Given the description of an element on the screen output the (x, y) to click on. 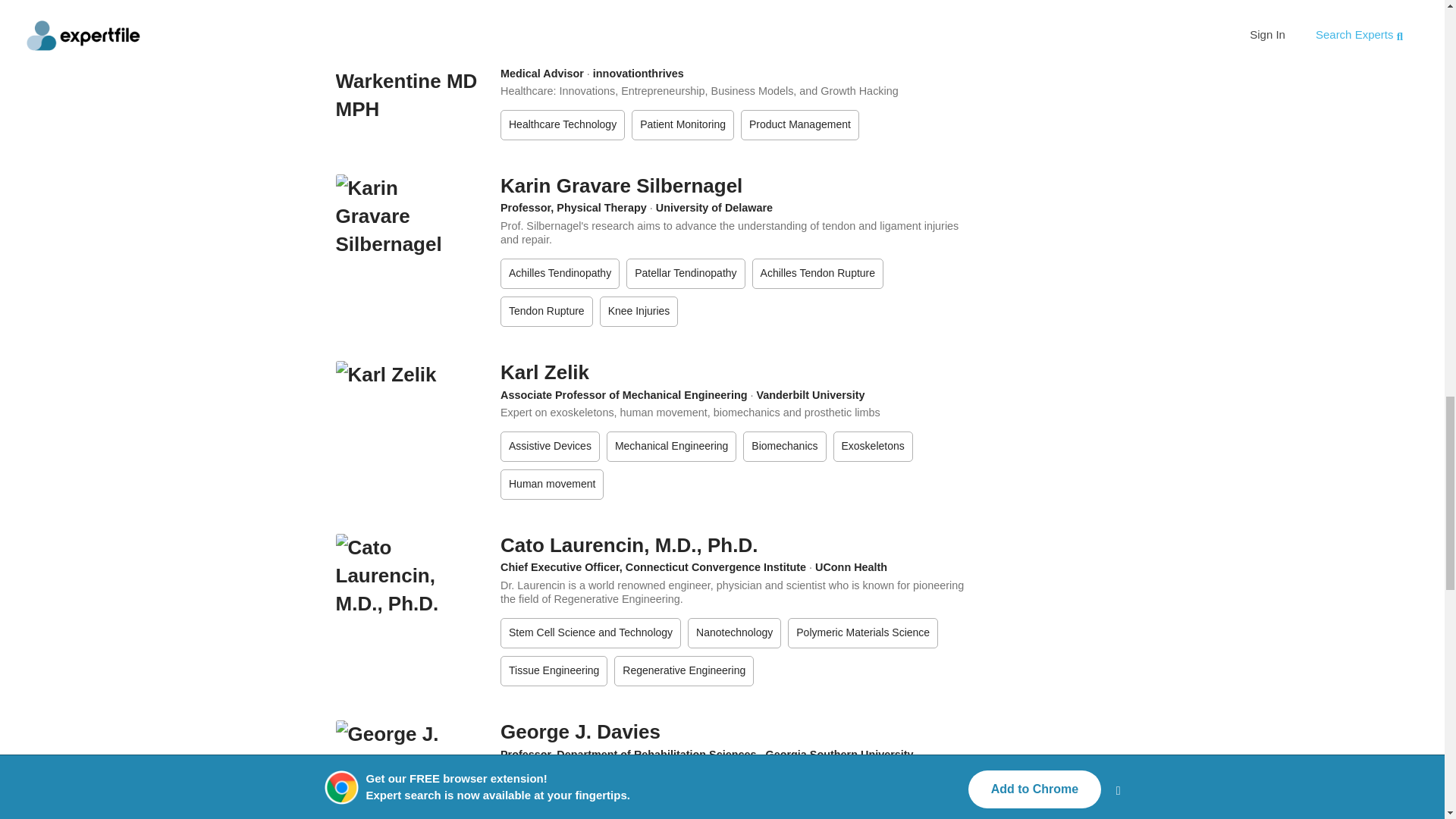
Cato Laurencin, M.D., Ph.D. (628, 544)
Karin Gravare Silbernagel (621, 185)
Blaine Warkentine MD MPH (627, 50)
George J. Davies (580, 731)
Karl Zelik (544, 372)
